Given the description of an element on the screen output the (x, y) to click on. 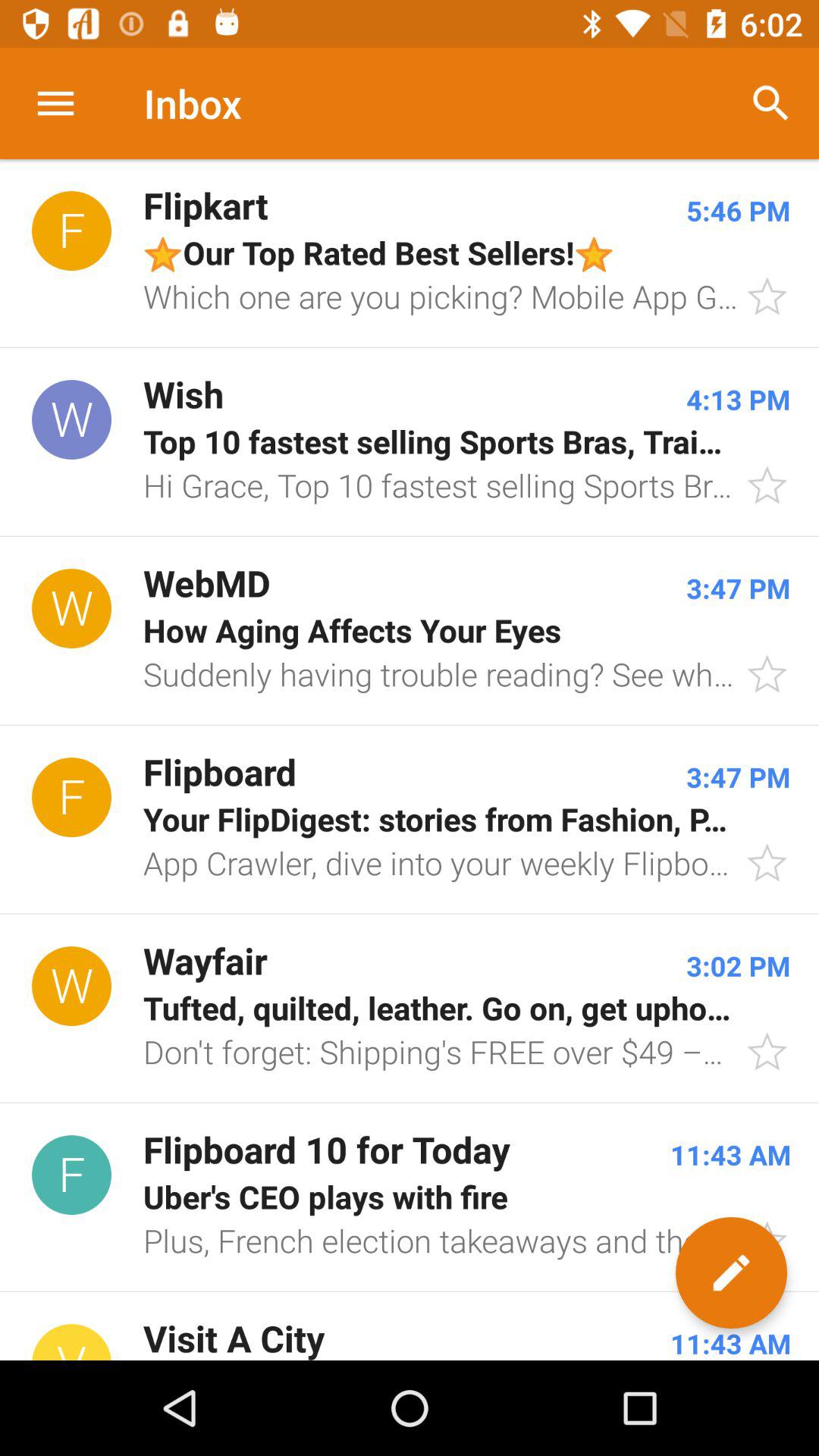
tap the icon at the bottom right corner (731, 1272)
